Given the description of an element on the screen output the (x, y) to click on. 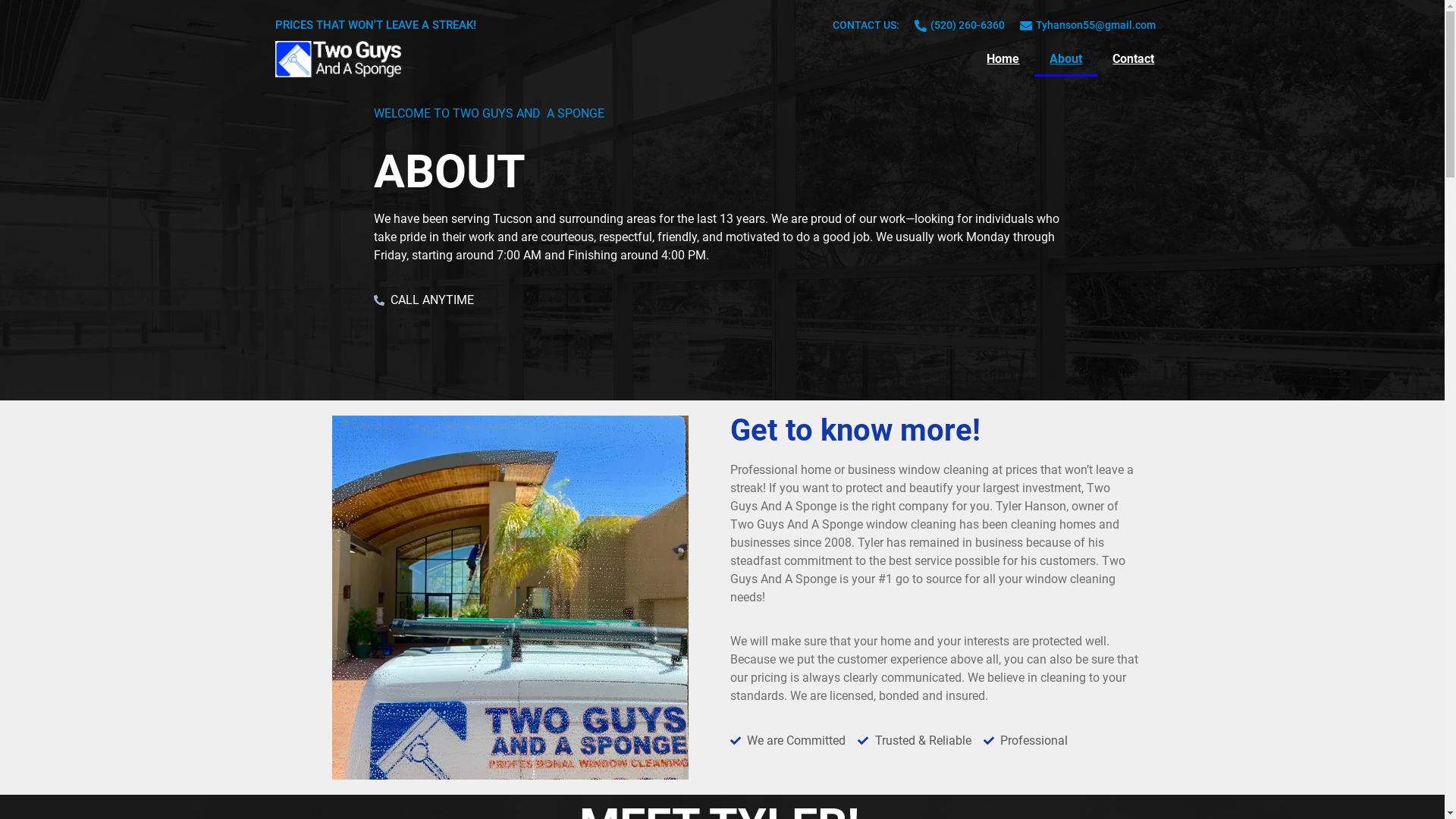
Home Element type: text (1002, 58)
Contact Element type: text (1133, 58)
About Element type: text (1065, 58)
